Given the description of an element on the screen output the (x, y) to click on. 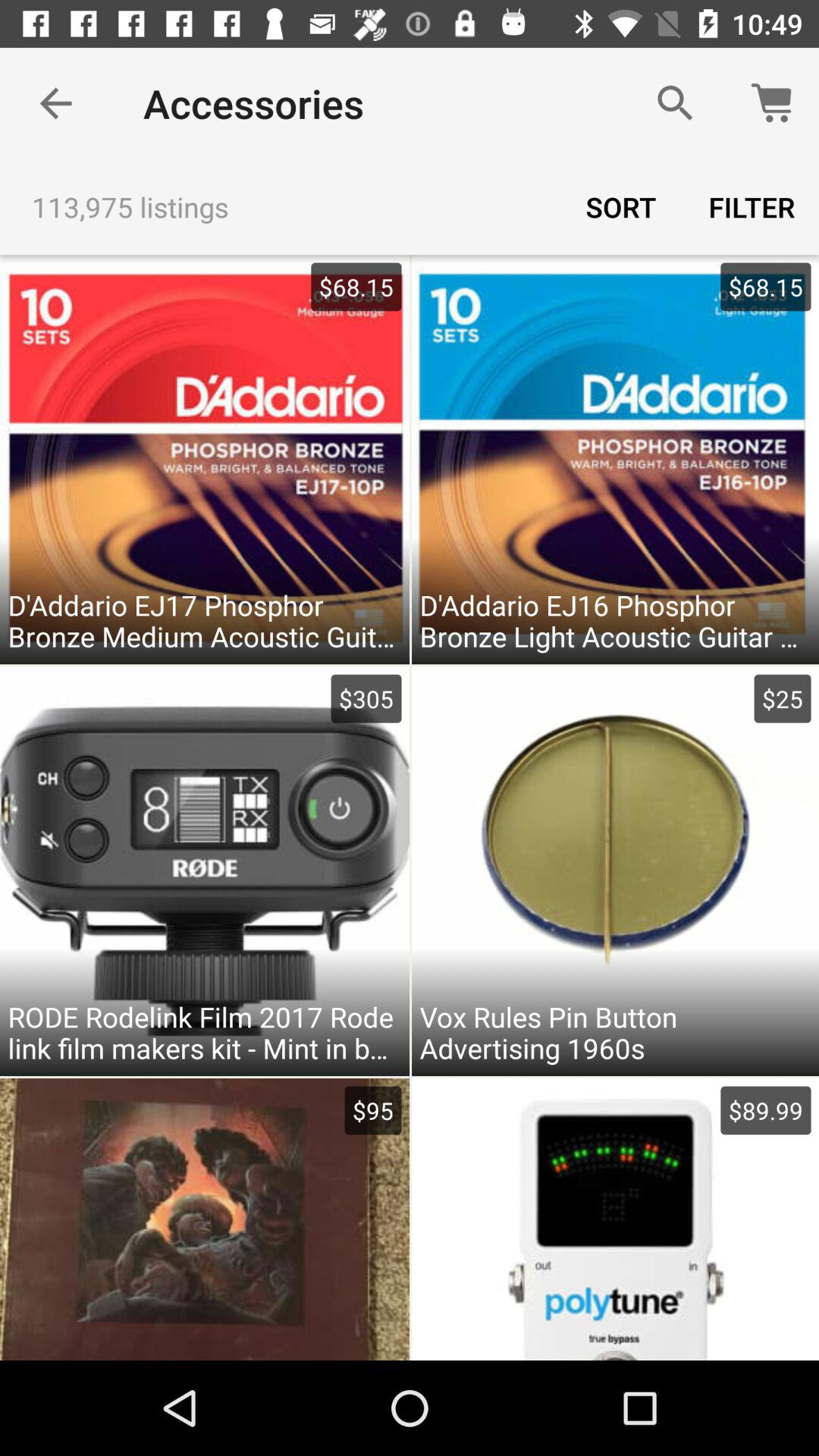
turn off the item above the sort (675, 103)
